Given the description of an element on the screen output the (x, y) to click on. 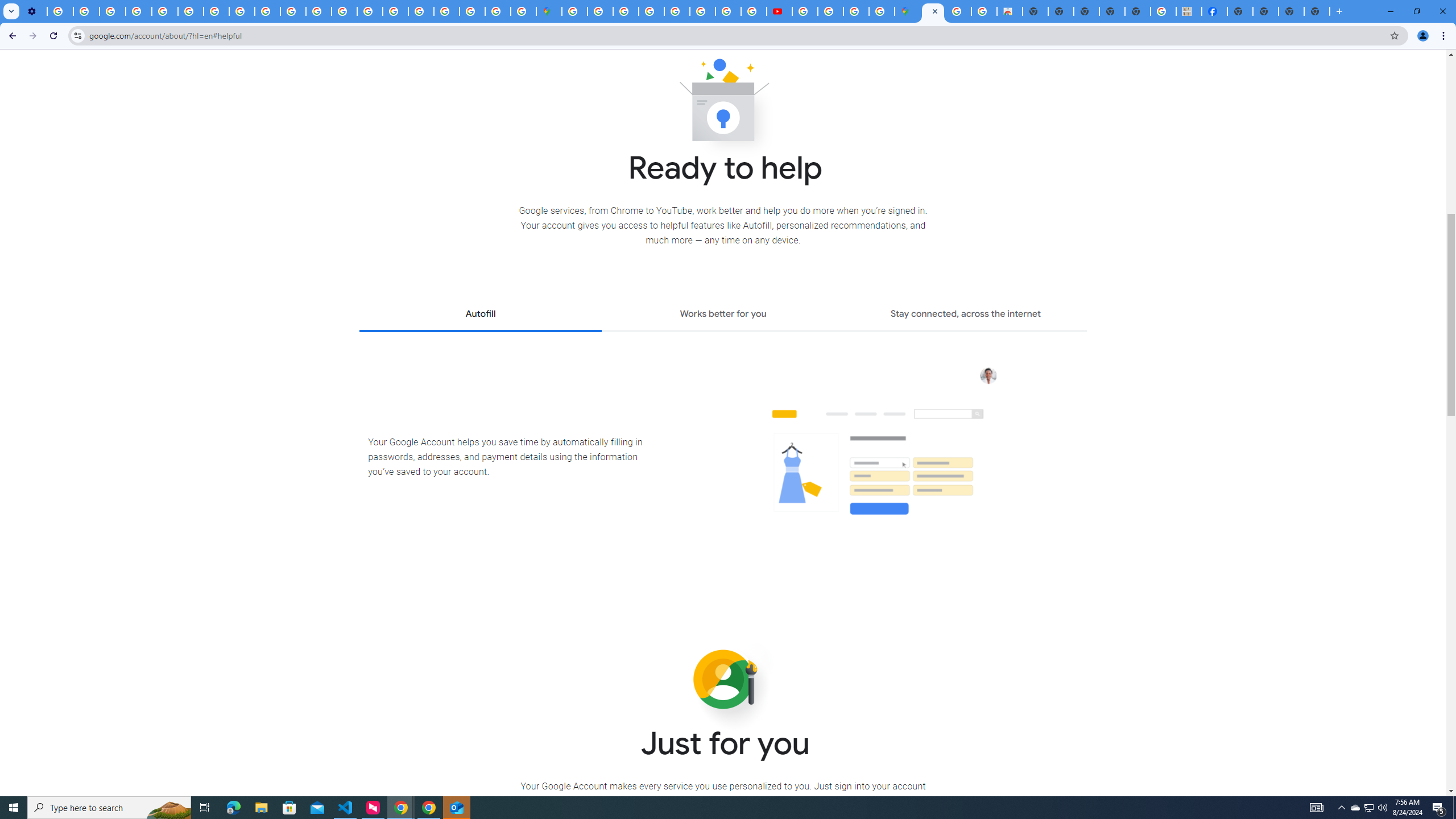
Sign in - Google Accounts (600, 11)
https://scholar.google.com/ (318, 11)
Chrome Web Store - Shopping (1009, 11)
YouTube (190, 11)
Terms and Conditions (676, 11)
How Chrome protects your passwords - Google Chrome Help (804, 11)
Privacy Checkup (293, 11)
Delete photos & videos - Computer - Google Photos Help (60, 11)
